Given the description of an element on the screen output the (x, y) to click on. 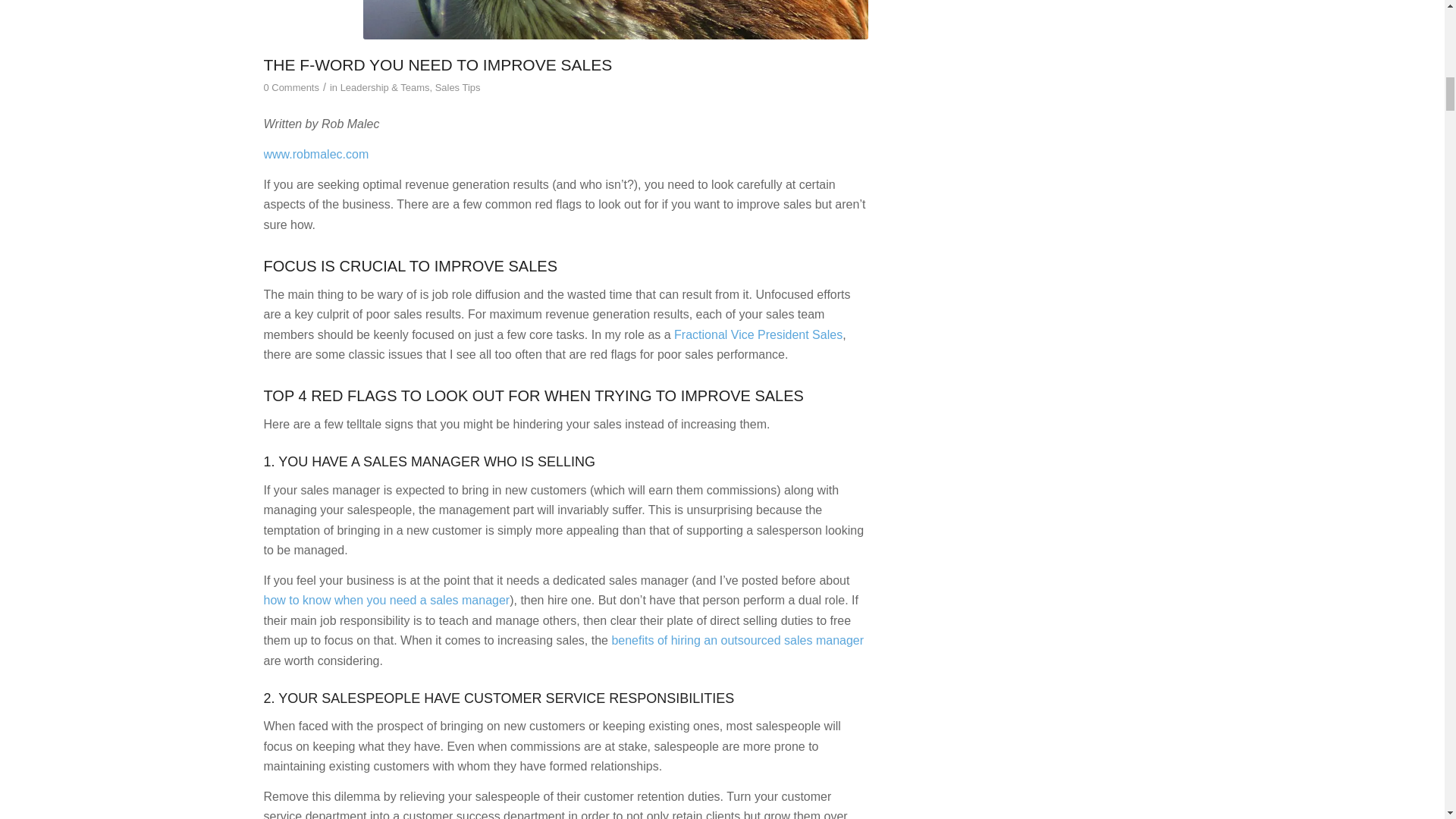
Sales Tips (457, 87)
how to know when you need a sales manager (387, 599)
0 Comments (290, 87)
THE F-WORD YOU NEED TO IMPROVE SALES (437, 64)
Fractional Vice President Sales (758, 334)
www.robmalec.com (316, 154)
benefits of hiring an outsourced sales manager (737, 640)
Permanent Link: The F-Word You Need to Improve Sales (437, 64)
